Given the description of an element on the screen output the (x, y) to click on. 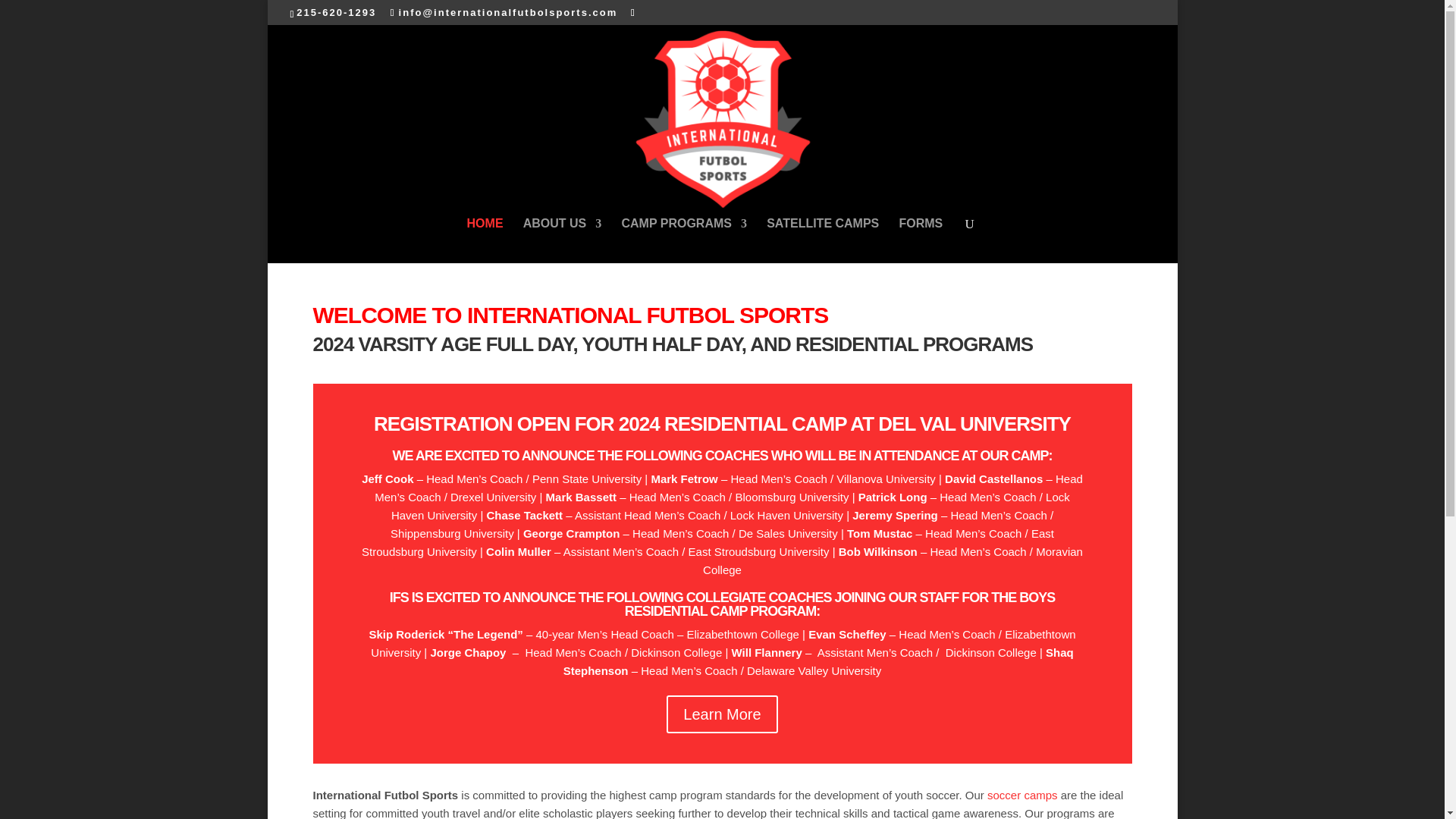
SATELLITE CAMPS (823, 240)
FORMS (920, 240)
Learn More (721, 714)
soccer camps (1022, 794)
CAMP PROGRAMS (683, 240)
ABOUT US (562, 240)
